Given the description of an element on the screen output the (x, y) to click on. 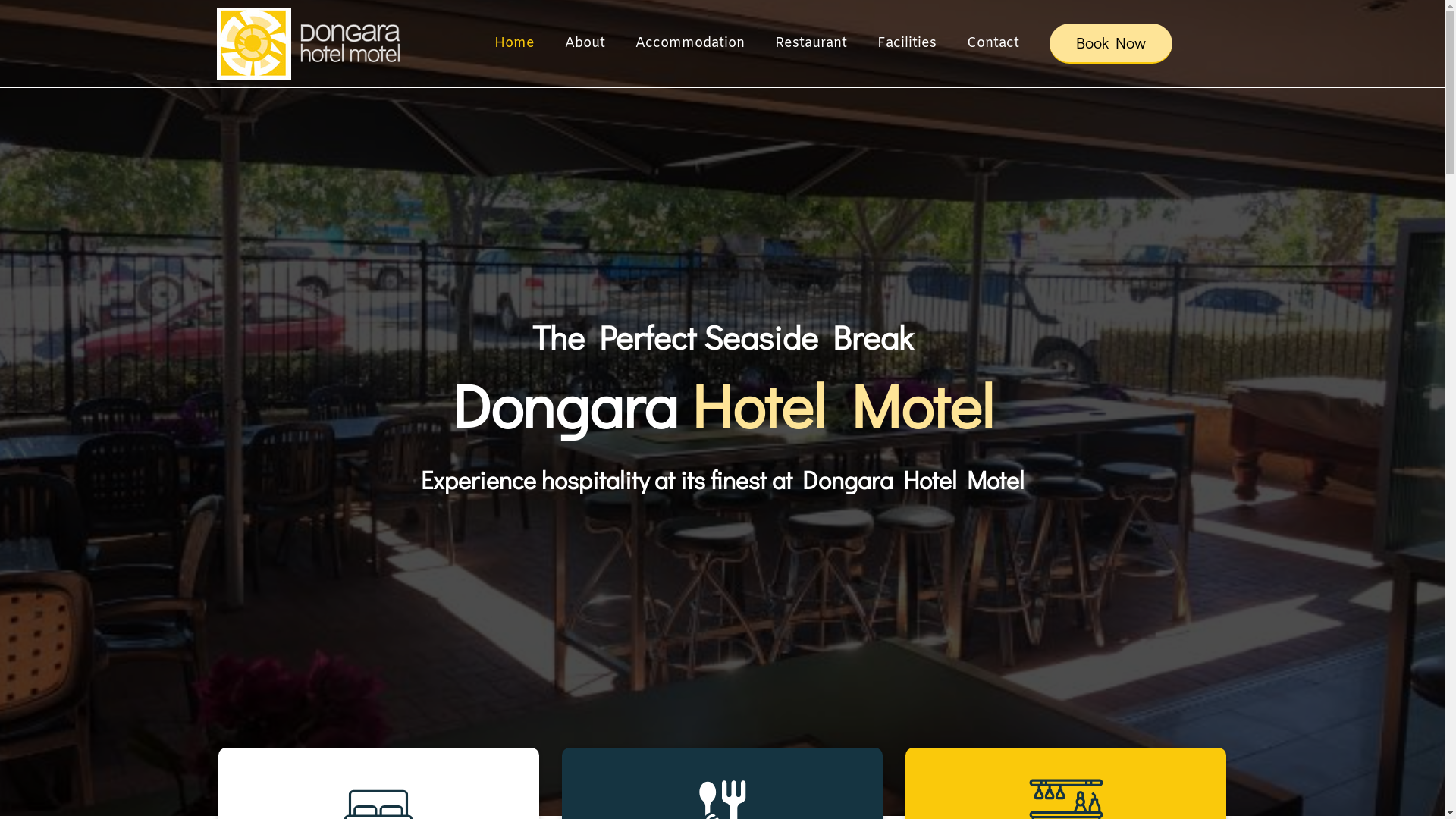
Book Now Element type: text (1110, 43)
Restaurant Element type: text (810, 42)
Facilities Element type: text (905, 42)
About Element type: text (584, 42)
Contact Element type: text (991, 42)
Accommodation Element type: text (689, 42)
Home Element type: text (514, 42)
